Given the description of an element on the screen output the (x, y) to click on. 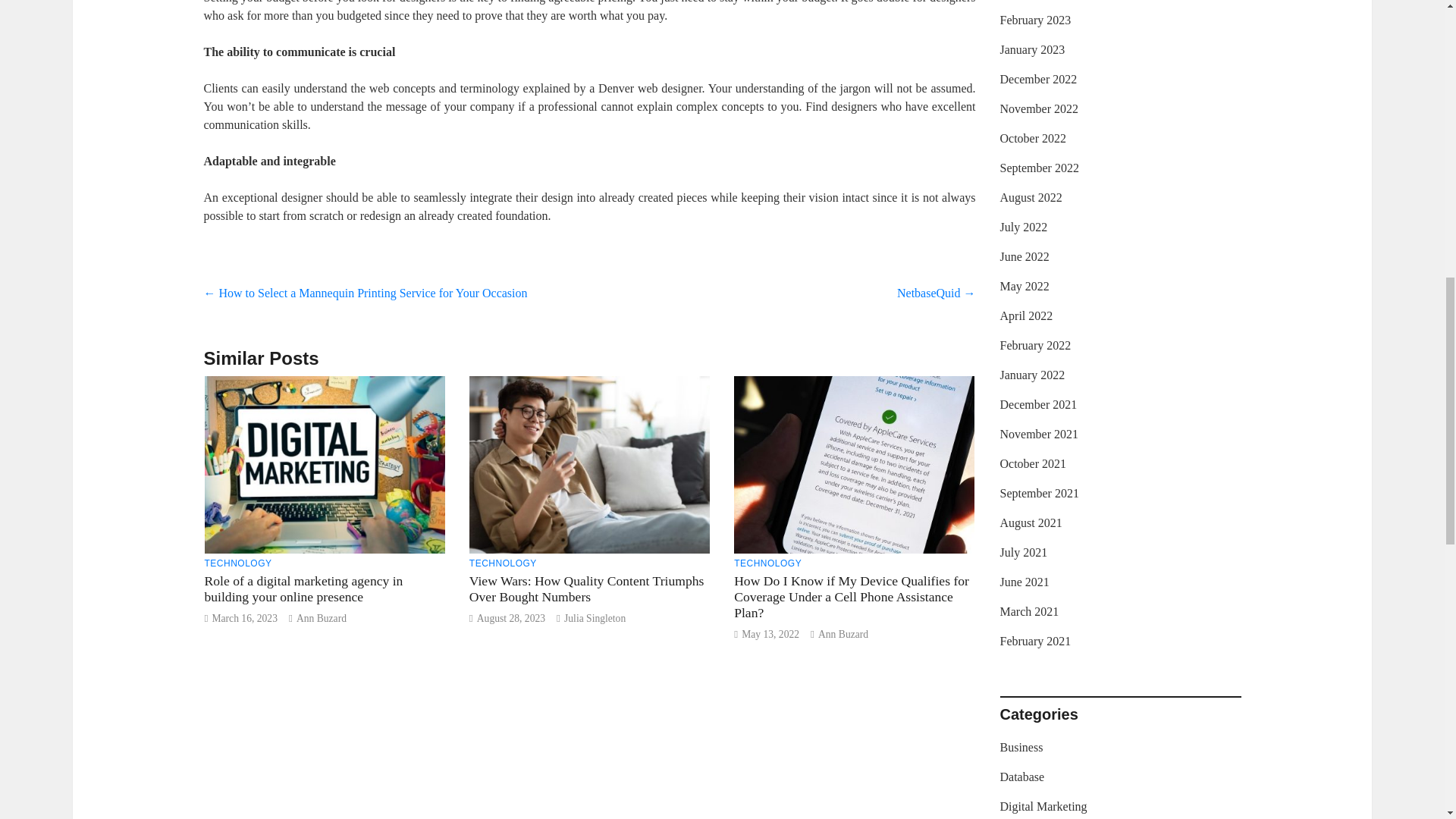
Ann Buzard (321, 618)
Ann Buzard (842, 633)
Julia Singleton (595, 618)
May 13, 2022 (770, 633)
TECHNOLOGY (502, 563)
TECHNOLOGY (238, 563)
March 16, 2023 (243, 618)
TECHNOLOGY (767, 563)
August 28, 2023 (510, 618)
View Wars: How Quality Content Triumphs Over Bought Numbers (586, 588)
